Given the description of an element on the screen output the (x, y) to click on. 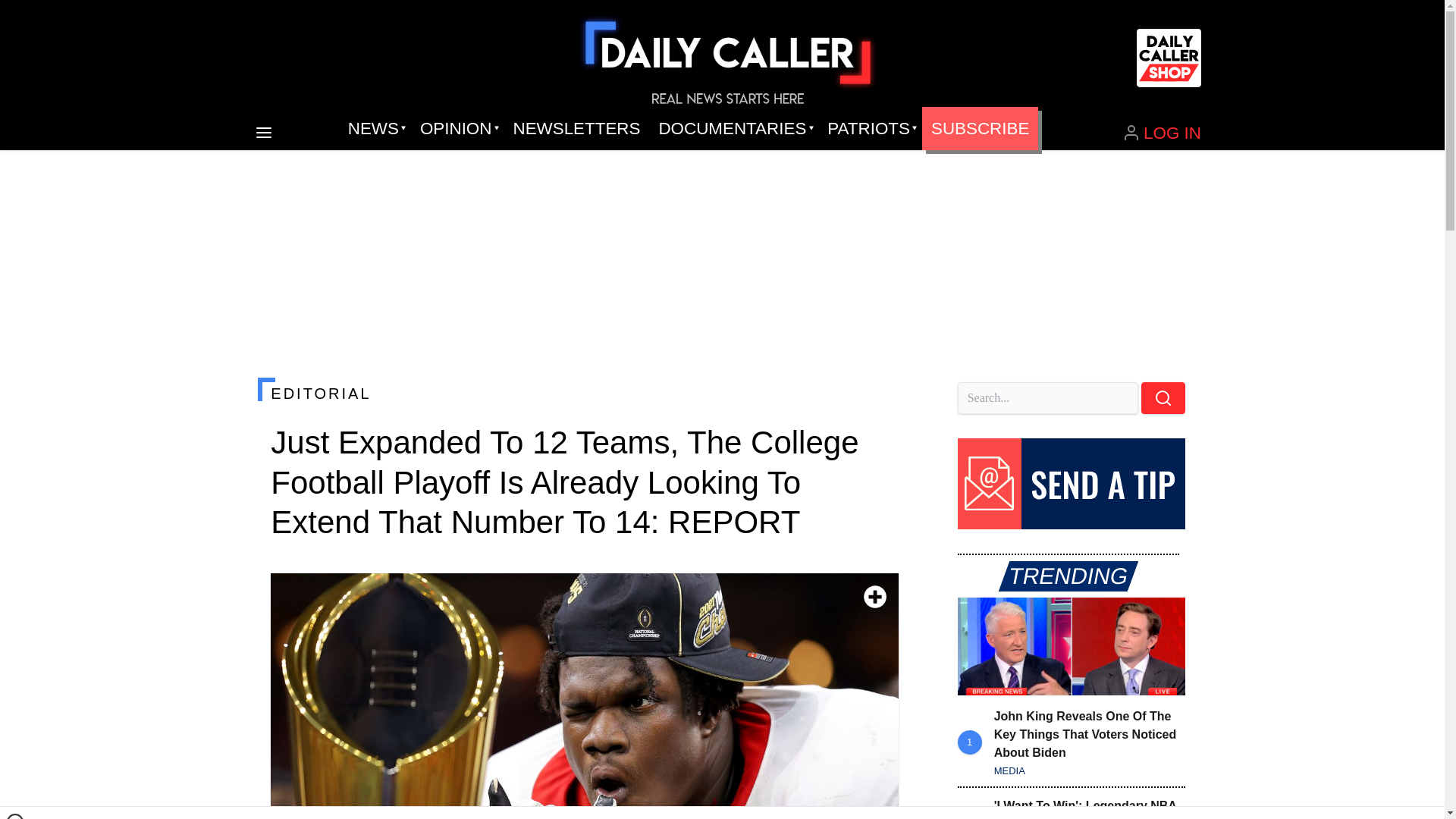
NEWS (374, 128)
NEWSLETTERS (576, 128)
DOCUMENTARIES (733, 128)
Toggle fullscreen (874, 596)
Close window (14, 816)
SUBSCRIBE (979, 128)
PATRIOTS (869, 128)
OPINION (456, 128)
EDITORIAL (584, 393)
